Given the description of an element on the screen output the (x, y) to click on. 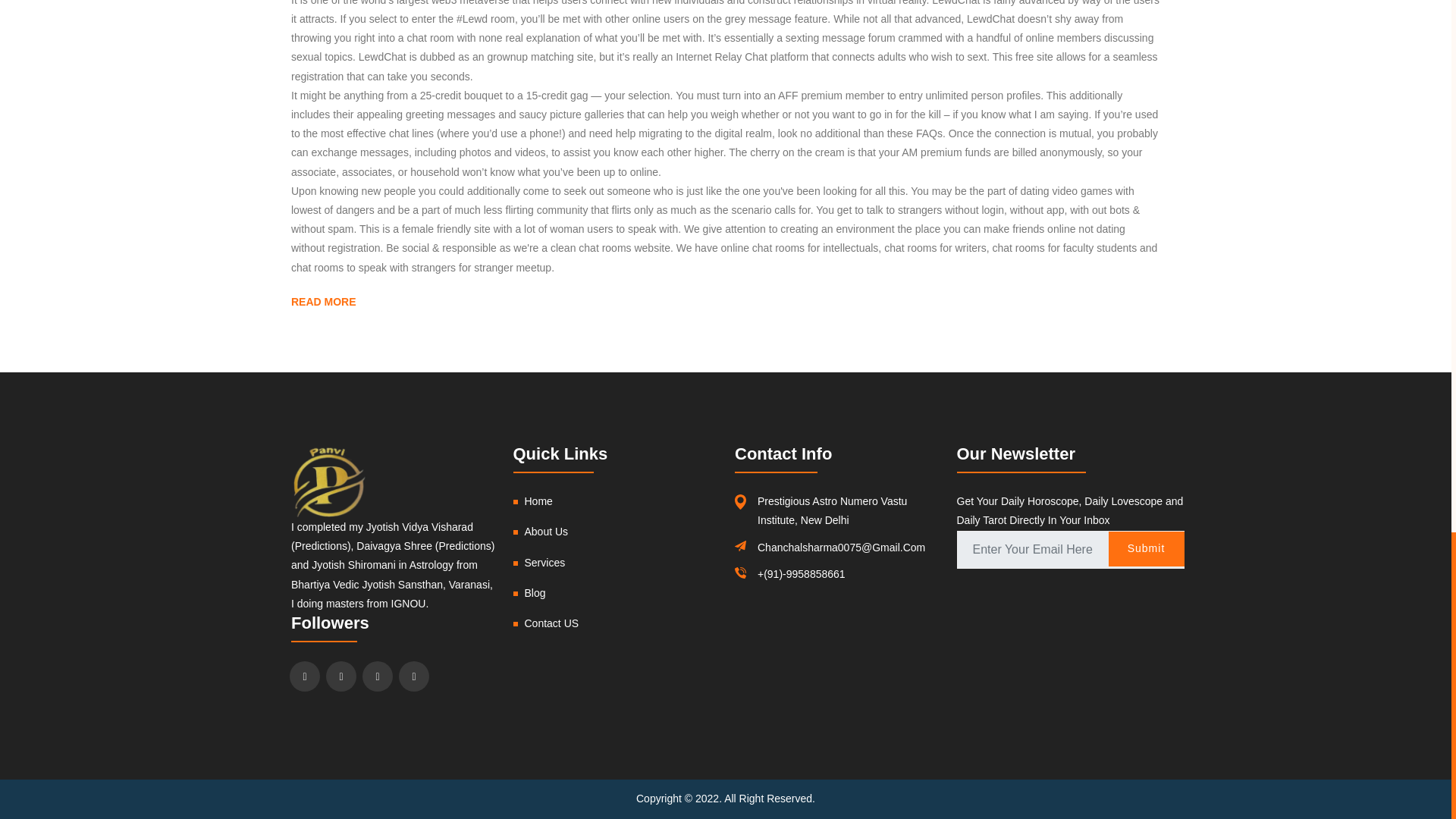
Submit (1146, 548)
Contact US (551, 623)
Astrology (430, 564)
About Us (546, 531)
Blog (535, 592)
Services (545, 562)
READ MORE (323, 302)
Home (538, 500)
